Given the description of an element on the screen output the (x, y) to click on. 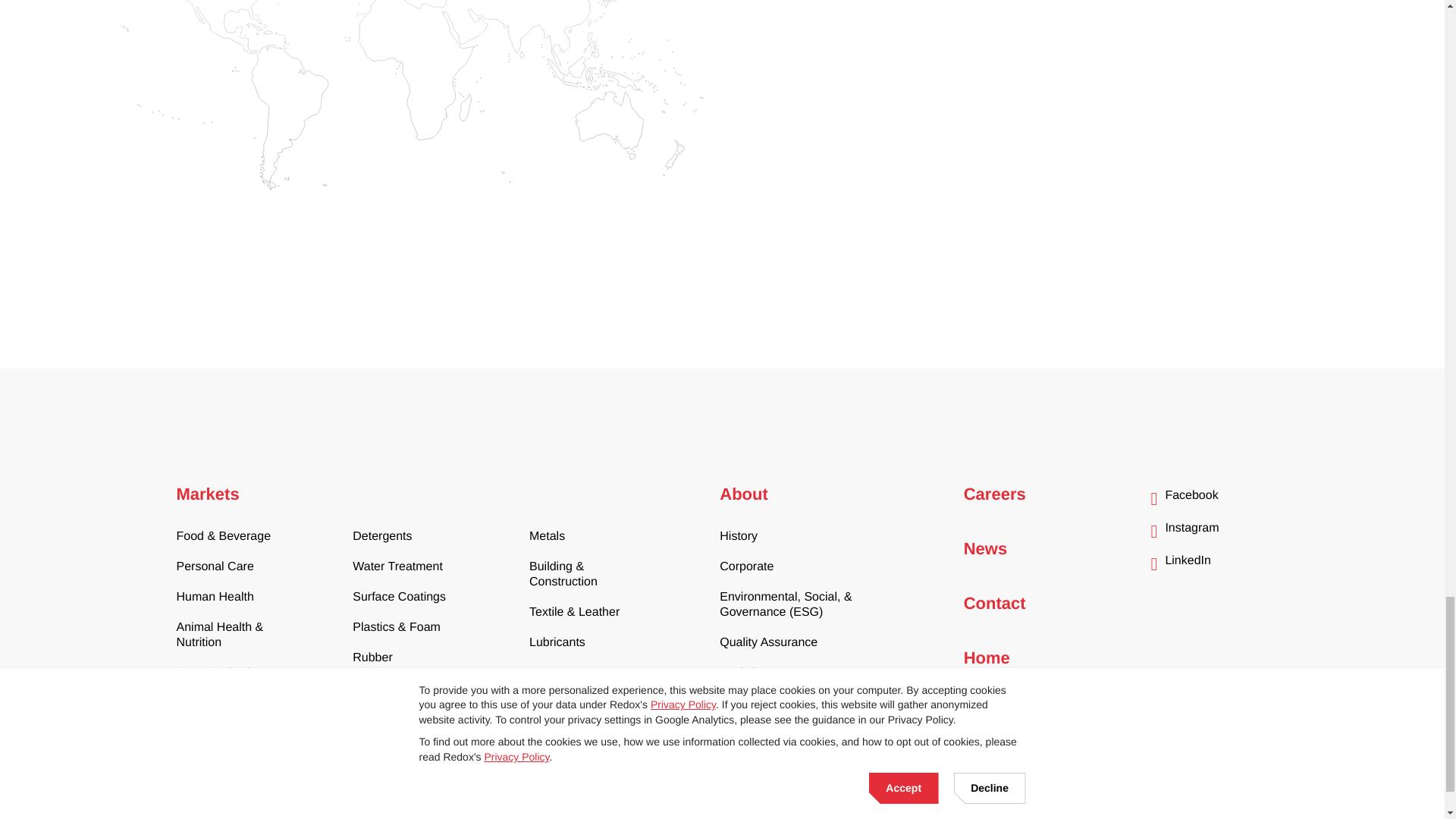
Redox Homepage (236, 763)
